Given the description of an element on the screen output the (x, y) to click on. 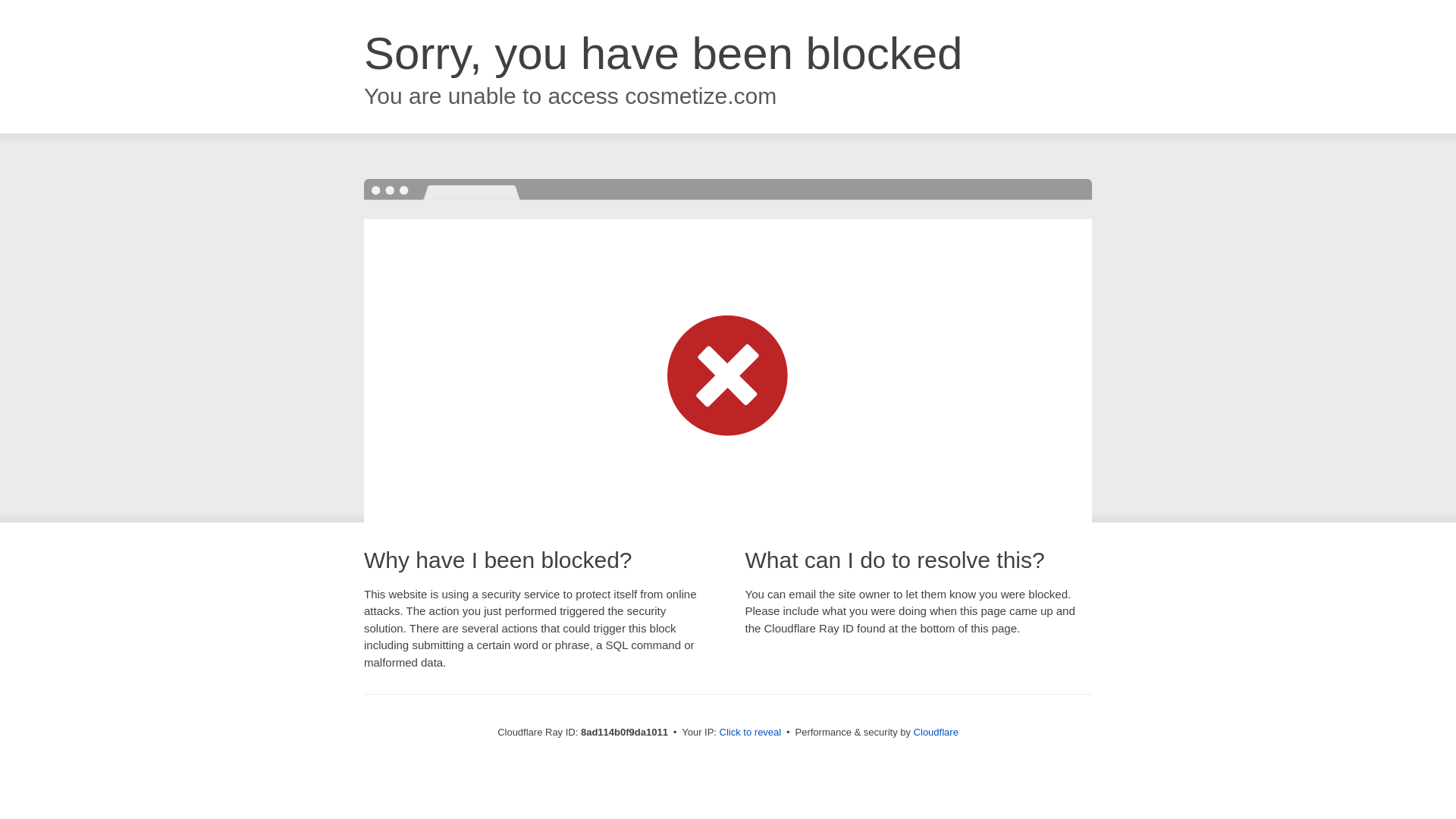
Click to reveal (750, 732)
Cloudflare (936, 731)
